Given the description of an element on the screen output the (x, y) to click on. 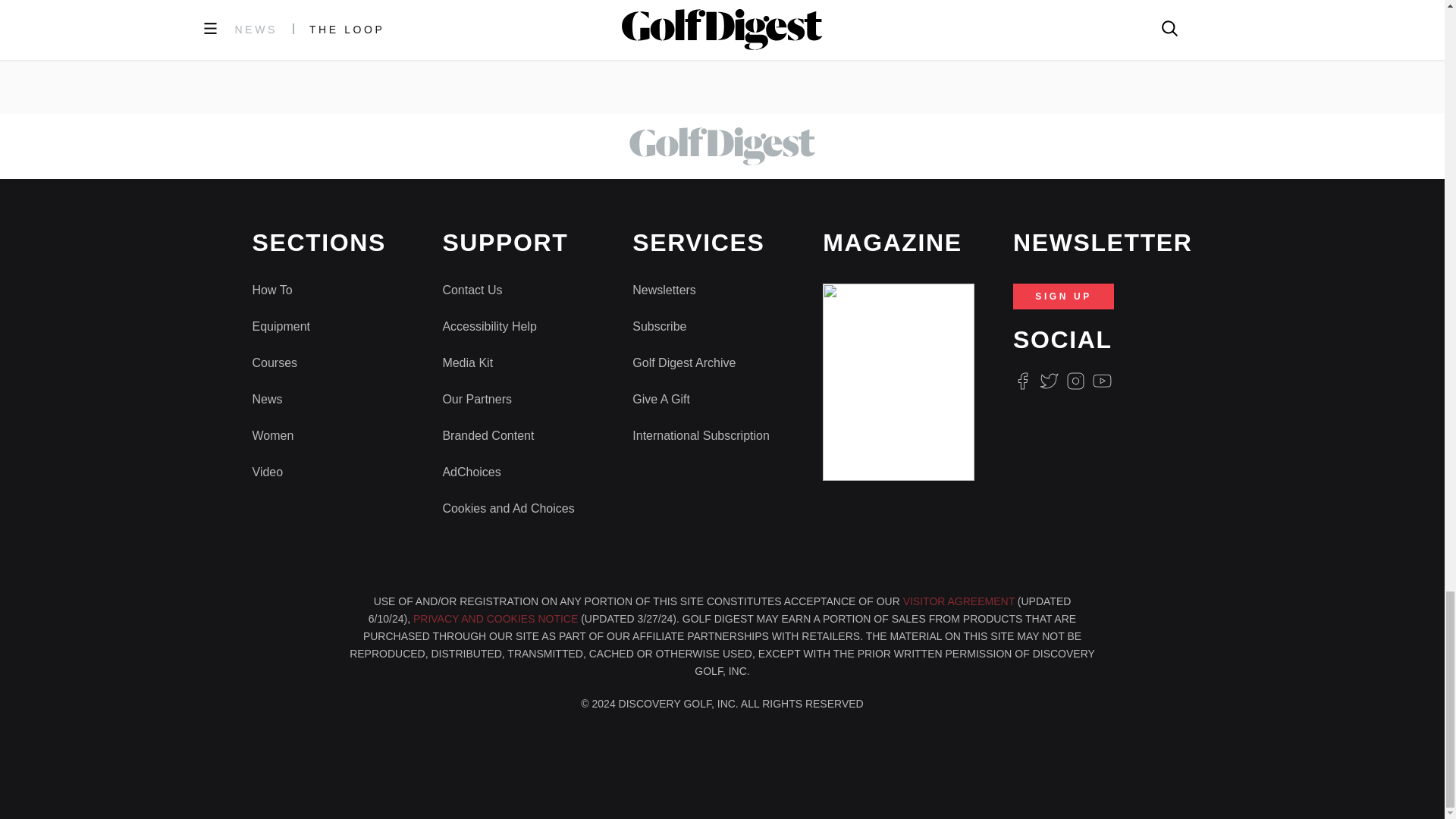
Twitter Logo (1048, 380)
Youtube Icon (1102, 380)
Facebook Logo (1022, 380)
Instagram Logo (1074, 380)
